Given the description of an element on the screen output the (x, y) to click on. 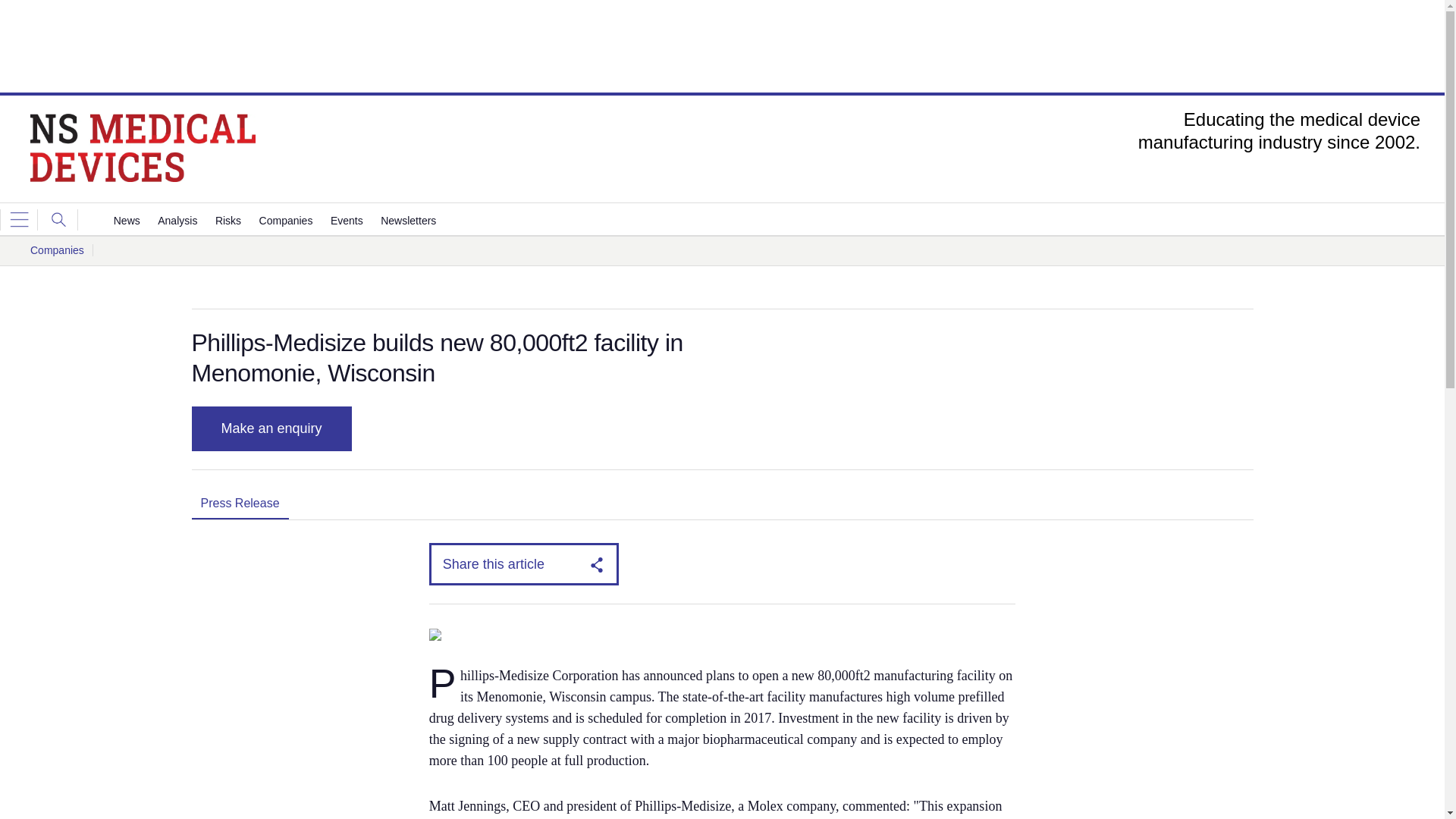
3rd party ad content (721, 46)
News (126, 220)
Events (346, 220)
Companies (286, 220)
Risks (228, 220)
Analysis (176, 220)
